Given the description of an element on the screen output the (x, y) to click on. 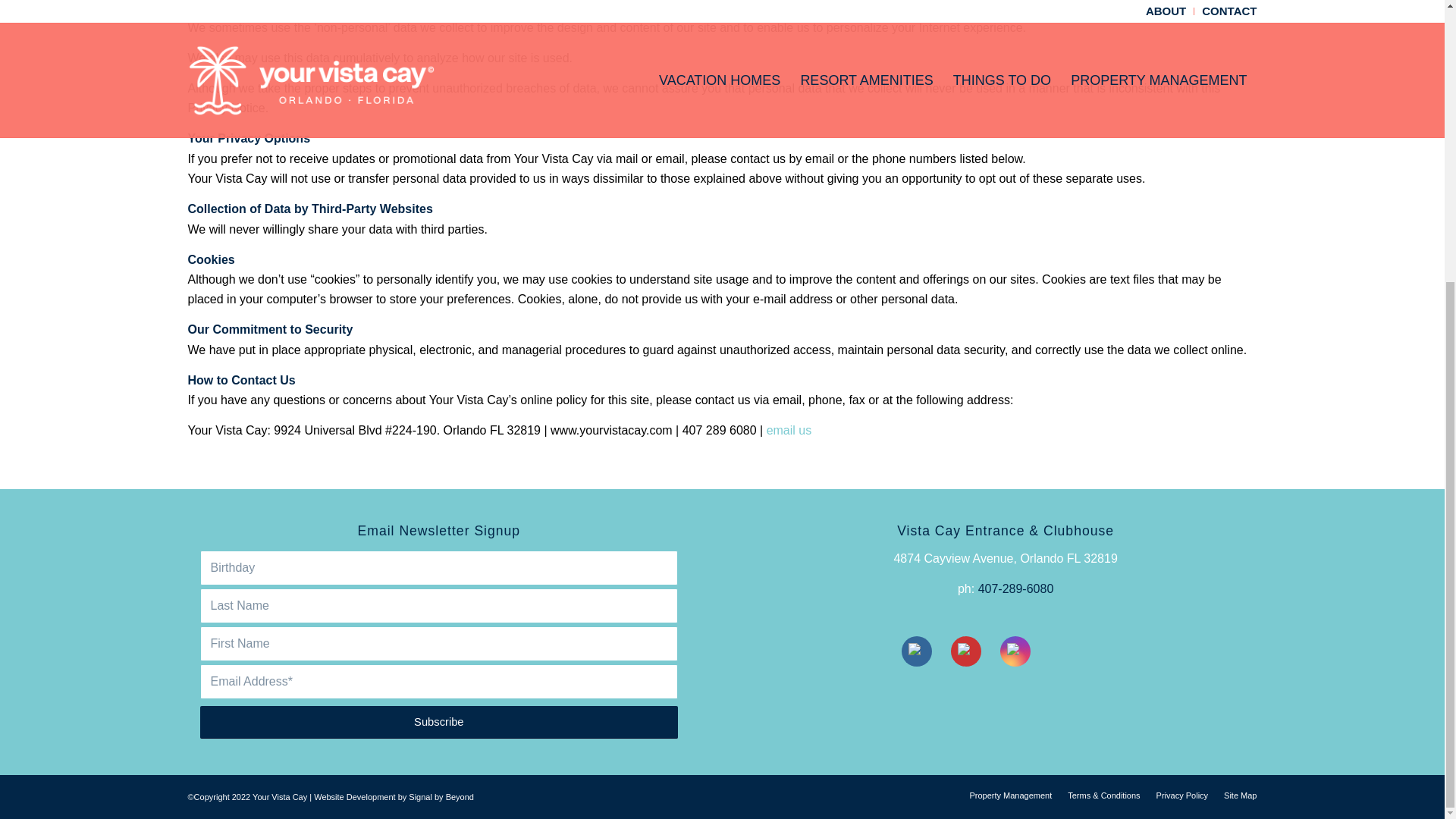
Subscribe (439, 721)
Property Management (1010, 795)
Privacy Policy (1182, 795)
Facebook (916, 651)
Instagram (1015, 651)
Signal by Beyond (441, 796)
email us (789, 430)
Subscribe (439, 721)
407-289-6080 (1016, 588)
Site Map (1240, 795)
